Given the description of an element on the screen output the (x, y) to click on. 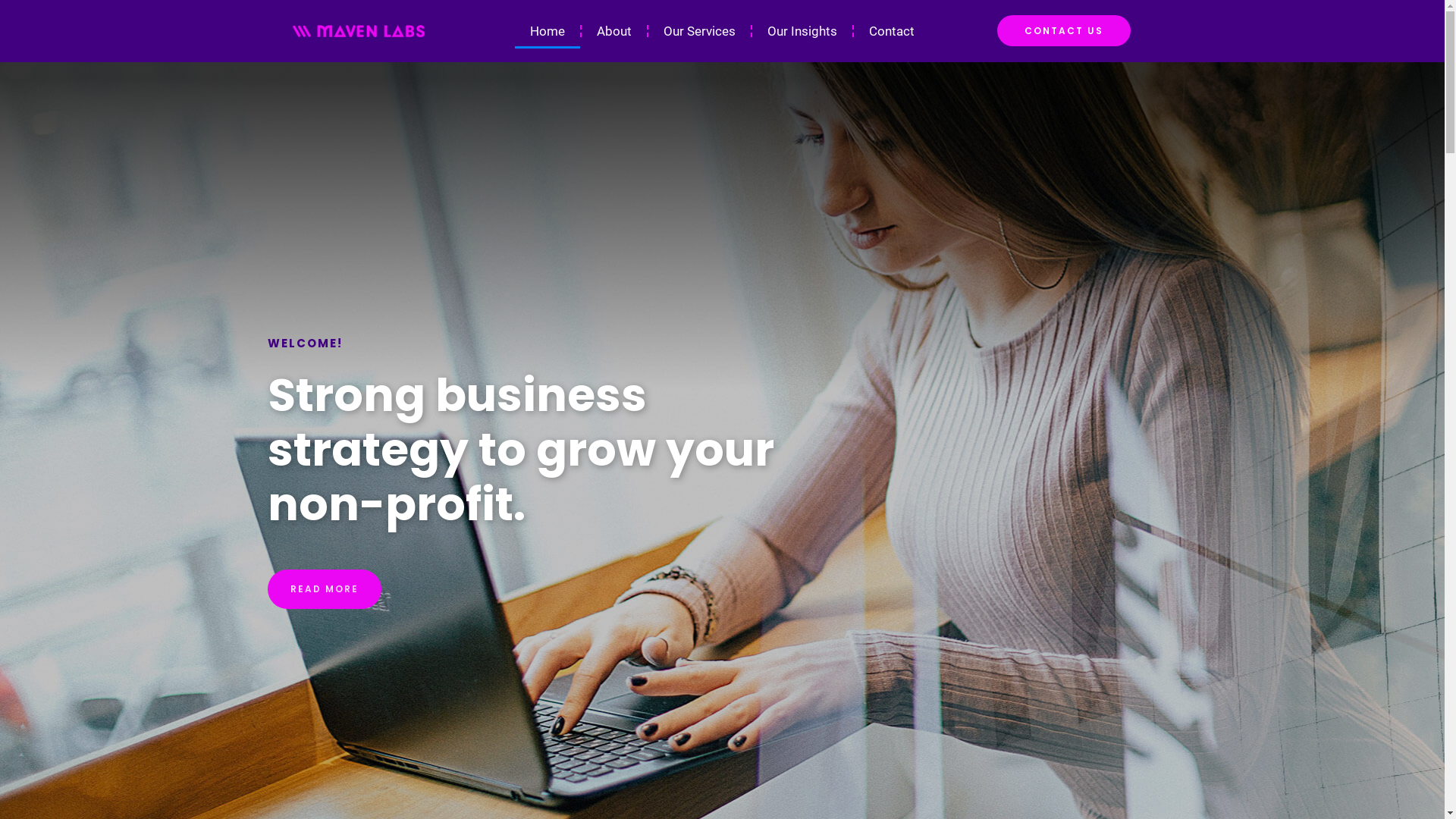
Our Insights Element type: text (802, 30)
CONTACT US Element type: text (1062, 30)
Home Element type: text (547, 30)
READ MORE Element type: text (323, 588)
Our Services Element type: text (699, 30)
Contact Element type: text (891, 30)
About Element type: text (613, 30)
